Given the description of an element on the screen output the (x, y) to click on. 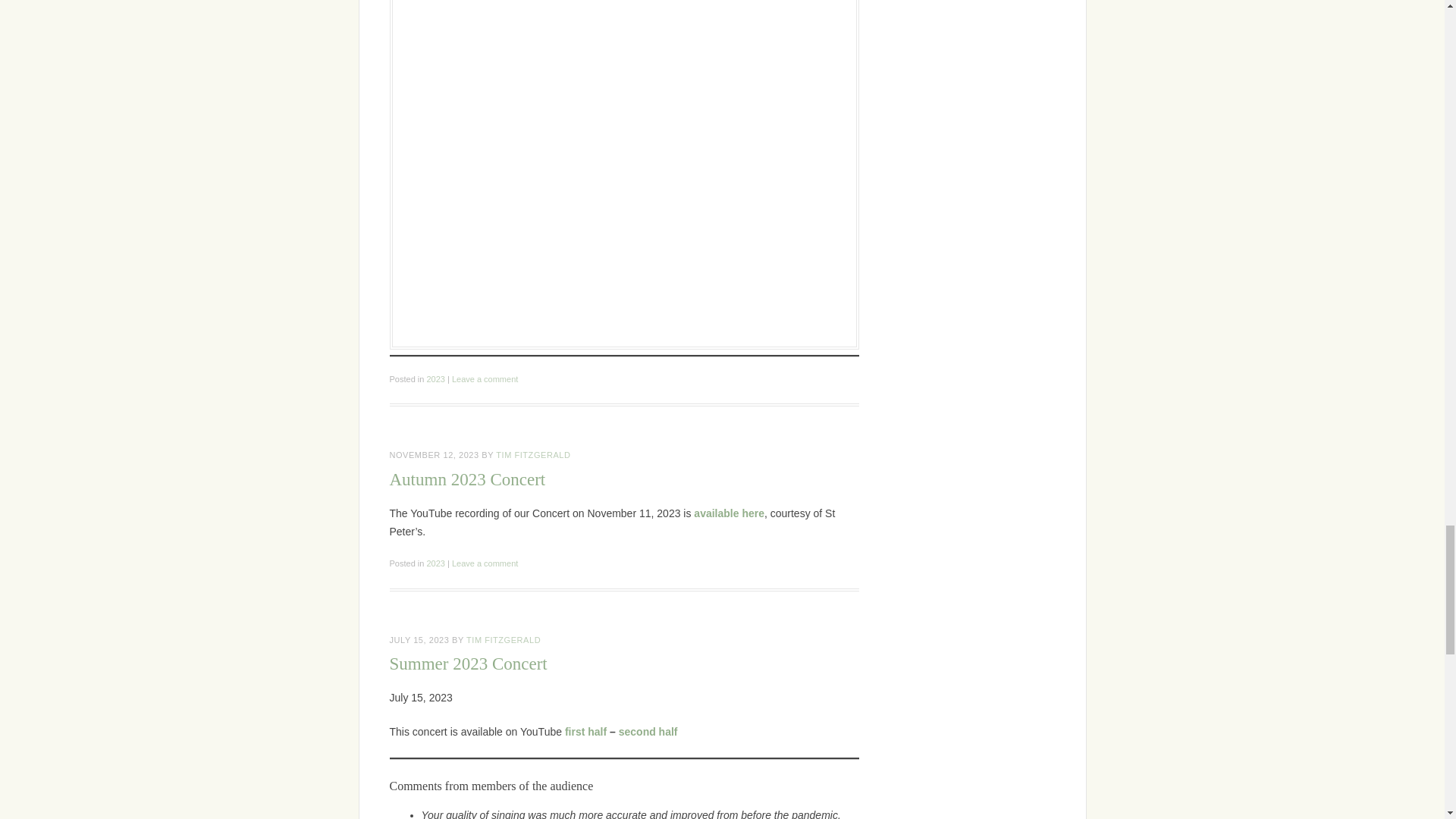
TIM FITZGERALD (533, 454)
19:24 (419, 639)
16:35 (434, 454)
View all posts by Tim FitzGerald (533, 454)
View all posts by Tim FitzGerald (502, 639)
Leave a comment (484, 379)
Autumn 2023 Concert (468, 479)
NOVEMBER 12, 2023 (434, 454)
2023 (435, 379)
available here (729, 512)
